Given the description of an element on the screen output the (x, y) to click on. 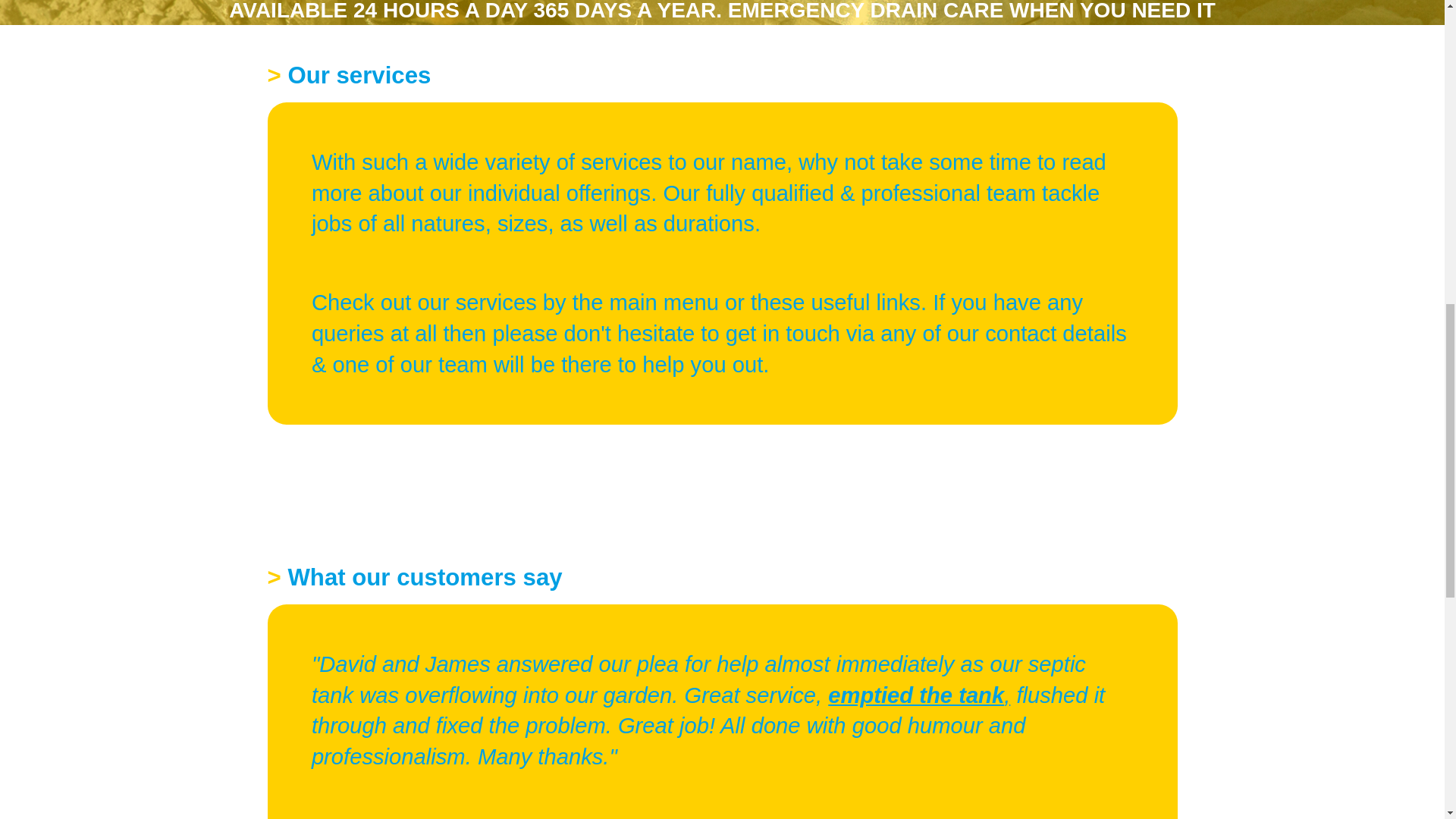
emptied the tank (916, 695)
Septic tank emptying (916, 695)
